Given the description of an element on the screen output the (x, y) to click on. 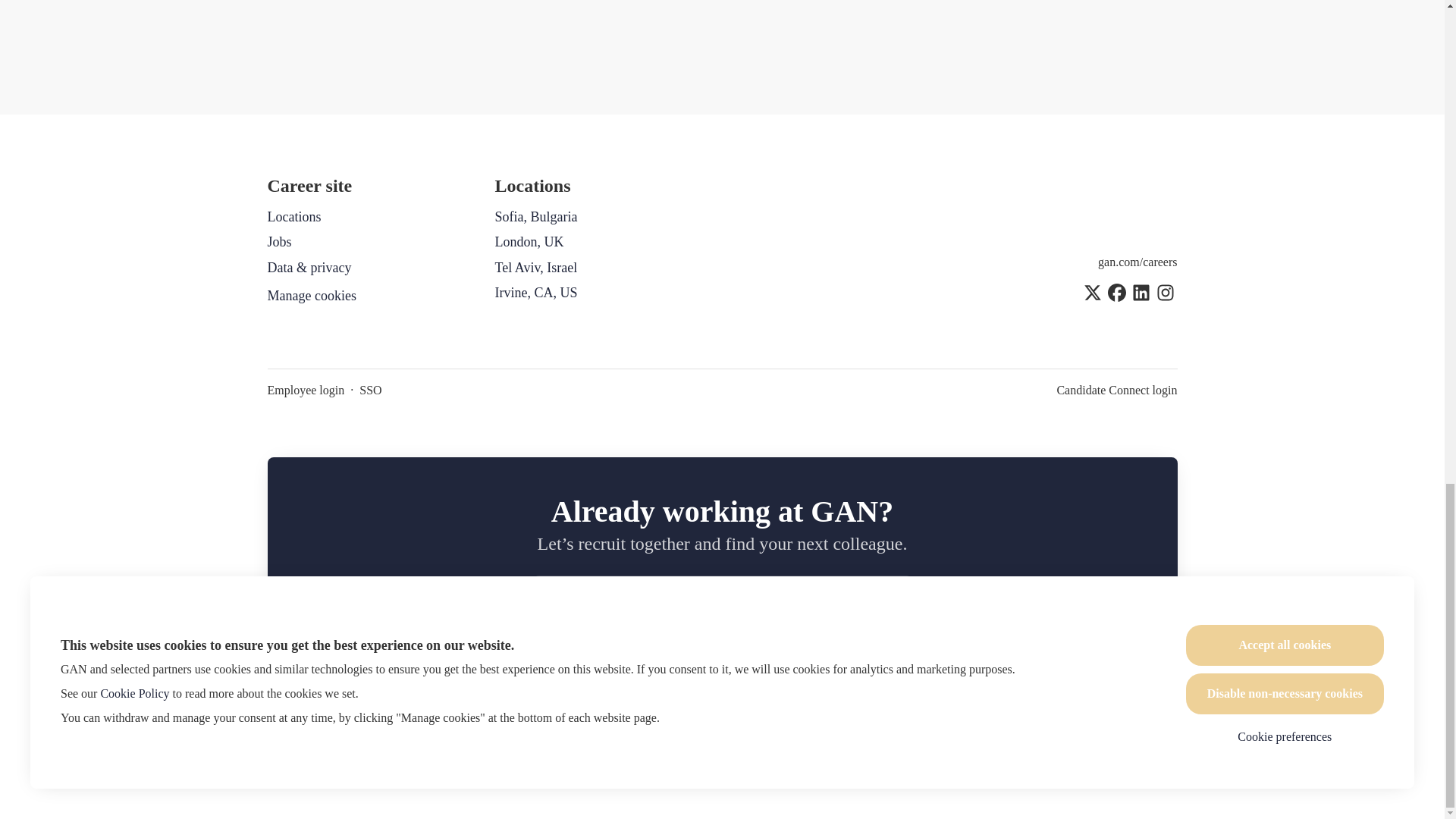
Sofia, Bulgaria (535, 216)
facebook (1115, 293)
Log in (887, 598)
Manage cookies (310, 296)
Irvine, CA, US (535, 292)
Jobs (278, 241)
London, UK (529, 241)
Locations (293, 216)
Tel Aviv, Israel (535, 267)
